Given the description of an element on the screen output the (x, y) to click on. 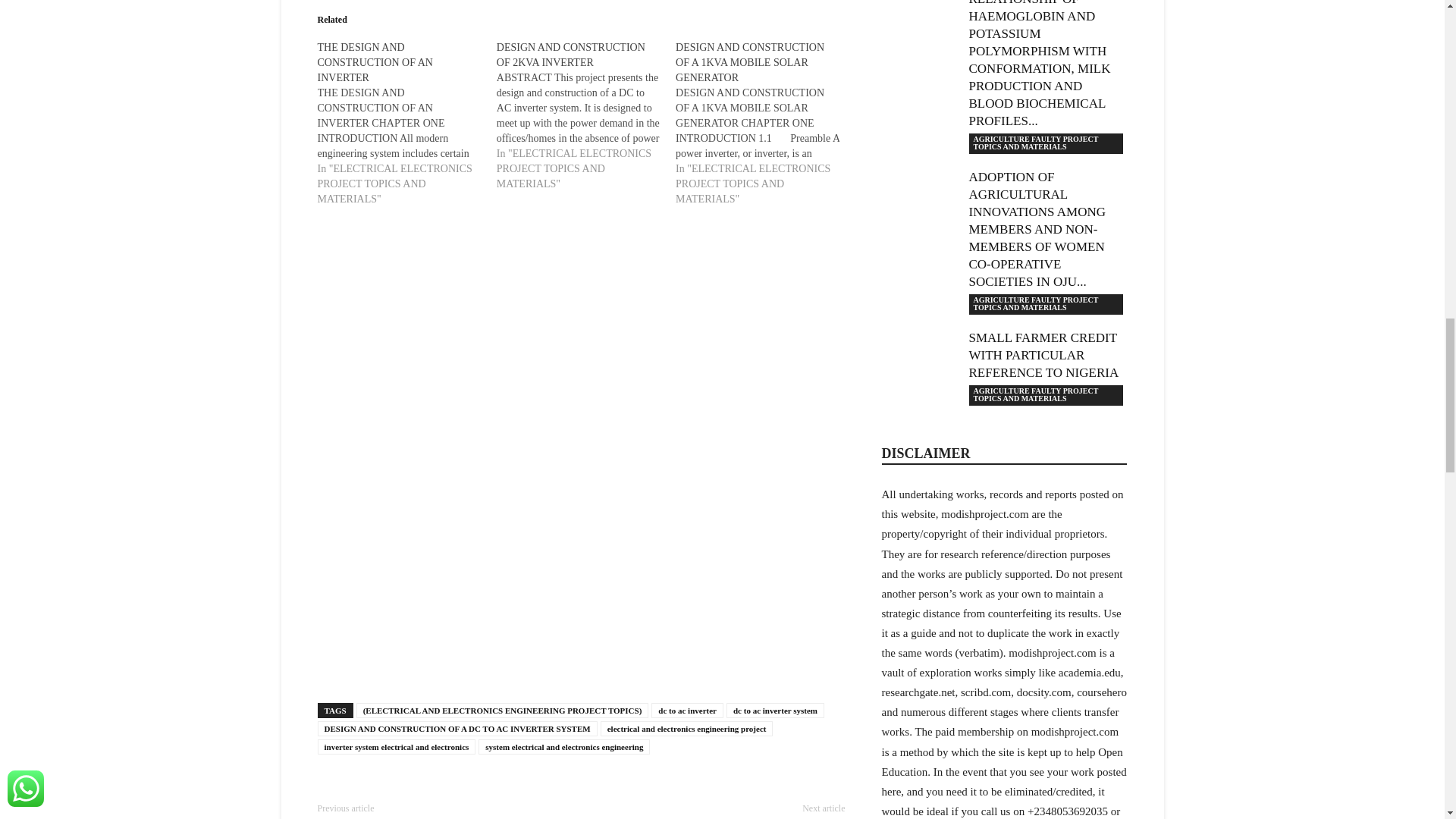
DESIGN AND CONSTRUCTION OF A 1KVA MOBILE SOLAR GENERATOR (764, 123)
Advertisement (580, 577)
bottomFacebookLike (430, 788)
THE DESIGN AND CONSTRUCTION OF AN INVERTER (406, 123)
Advertisement (580, 343)
DESIGN AND CONSTRUCTION OF 2KVA INVERTER (570, 54)
DESIGN AND CONSTRUCTION OF A 1KVA MOBILE SOLAR GENERATOR (749, 62)
DESIGN AND CONSTRUCTION OF 2KVA INVERTER (585, 115)
THE DESIGN AND CONSTRUCTION OF AN INVERTER (374, 62)
